Given the description of an element on the screen output the (x, y) to click on. 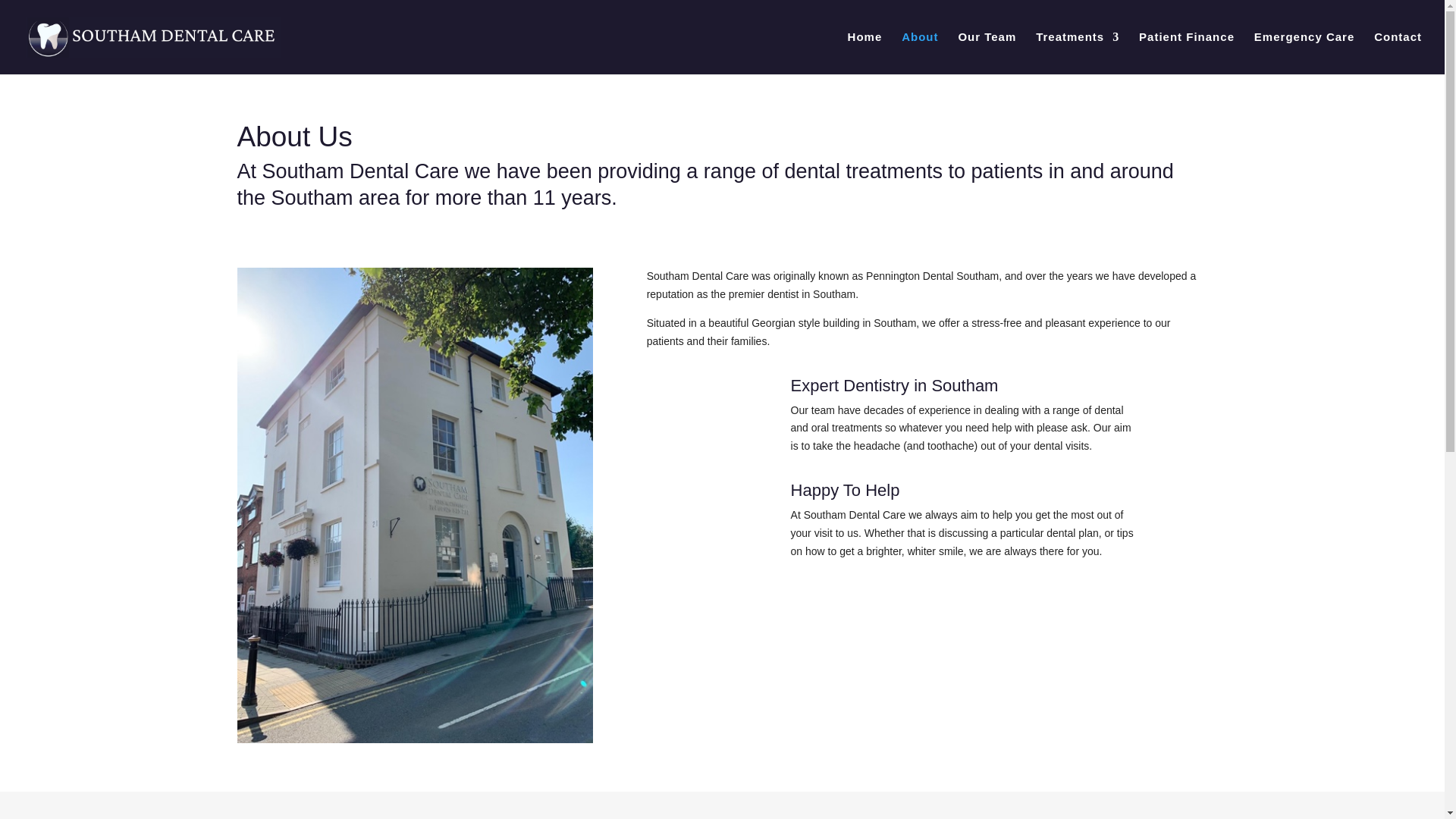
Emergency Care (1303, 52)
Patient Finance (1186, 52)
Our Team (987, 52)
Treatments (1077, 52)
Contact (1398, 52)
